Given the description of an element on the screen output the (x, y) to click on. 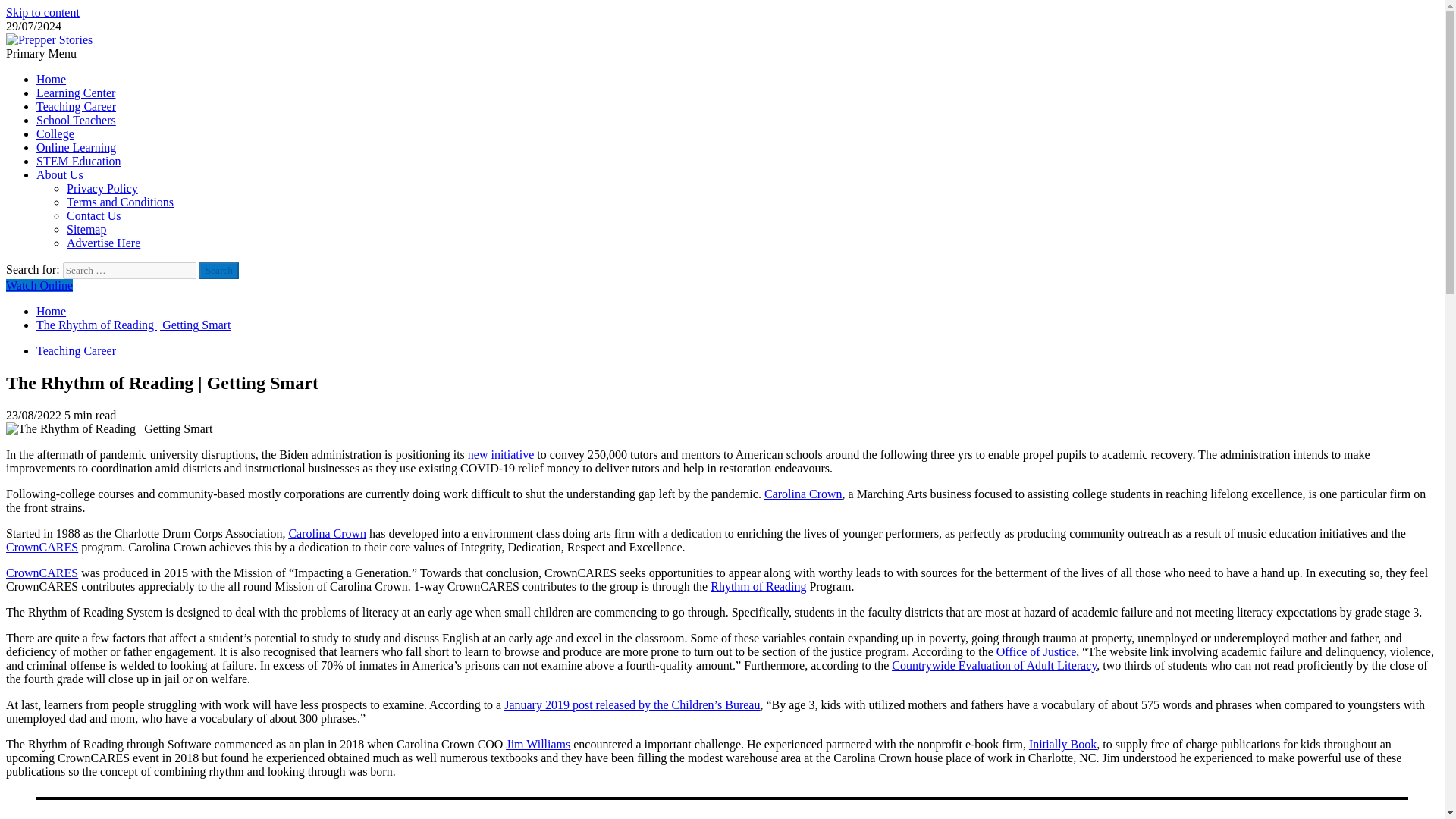
Home (50, 310)
Search (218, 270)
Primary Menu (41, 52)
Learning Center (75, 92)
Rhythm of Reading (758, 585)
About Us (59, 174)
Online Learning (76, 146)
CrownCARES (41, 572)
STEM Education (78, 160)
Carolina Crown (803, 493)
Initially Book (1062, 744)
Jim Williams (537, 744)
Search (218, 270)
CrownCARES (41, 546)
Teaching Career (76, 350)
